Given the description of an element on the screen output the (x, y) to click on. 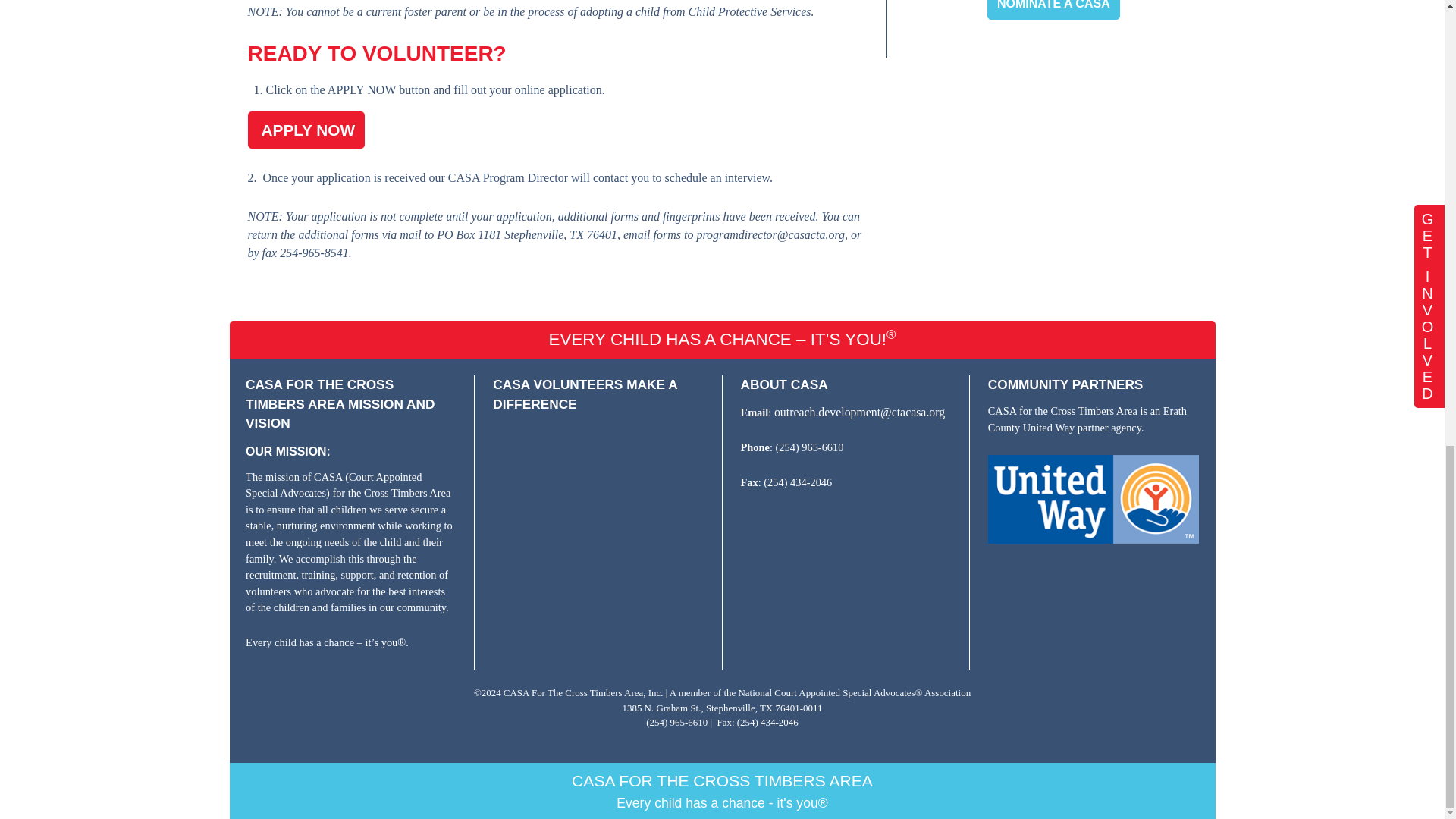
Every Child Has A Chance - It's YOU! (598, 493)
